Given the description of an element on the screen output the (x, y) to click on. 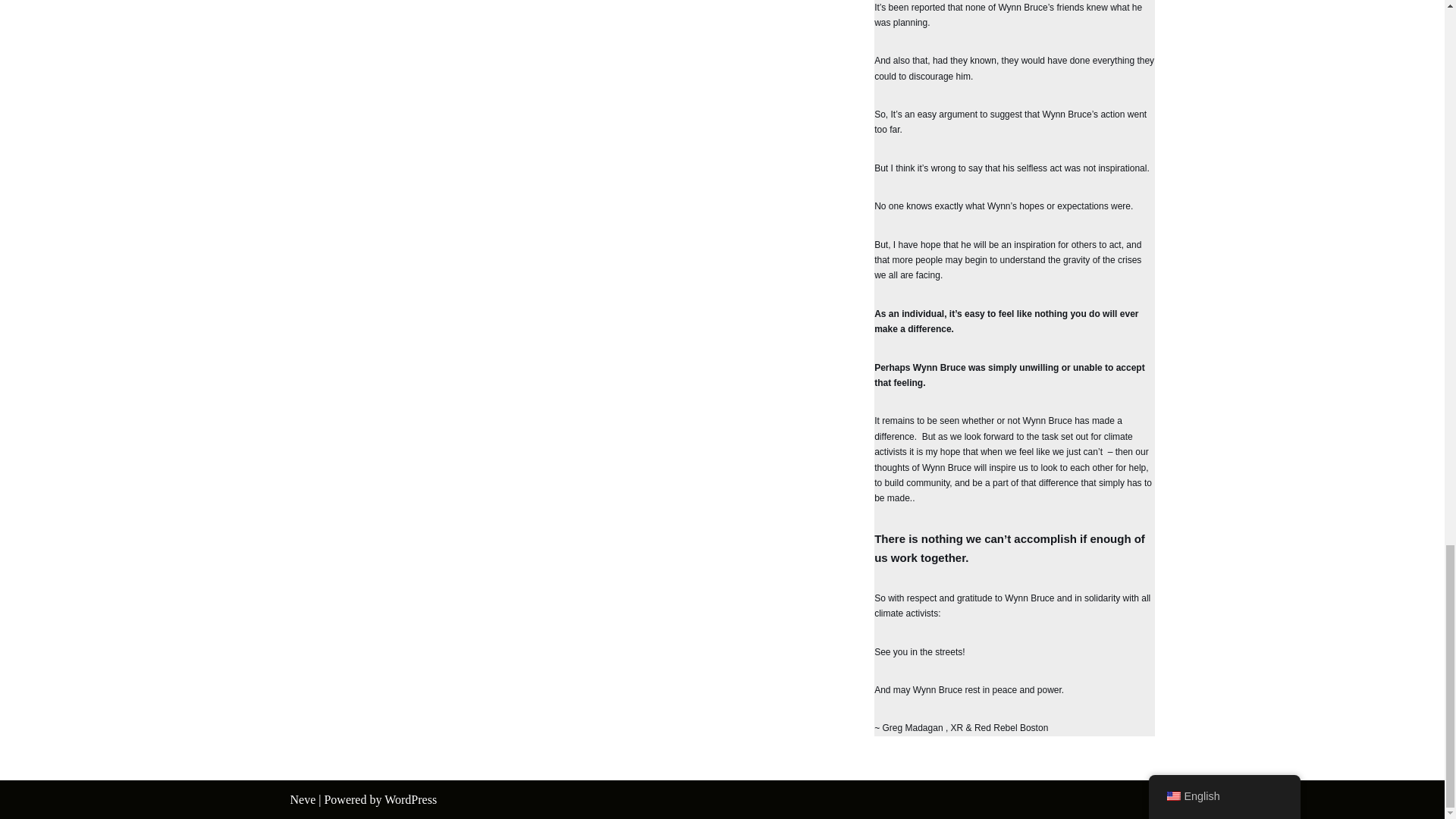
WordPress (410, 799)
Neve (302, 799)
